Given the description of an element on the screen output the (x, y) to click on. 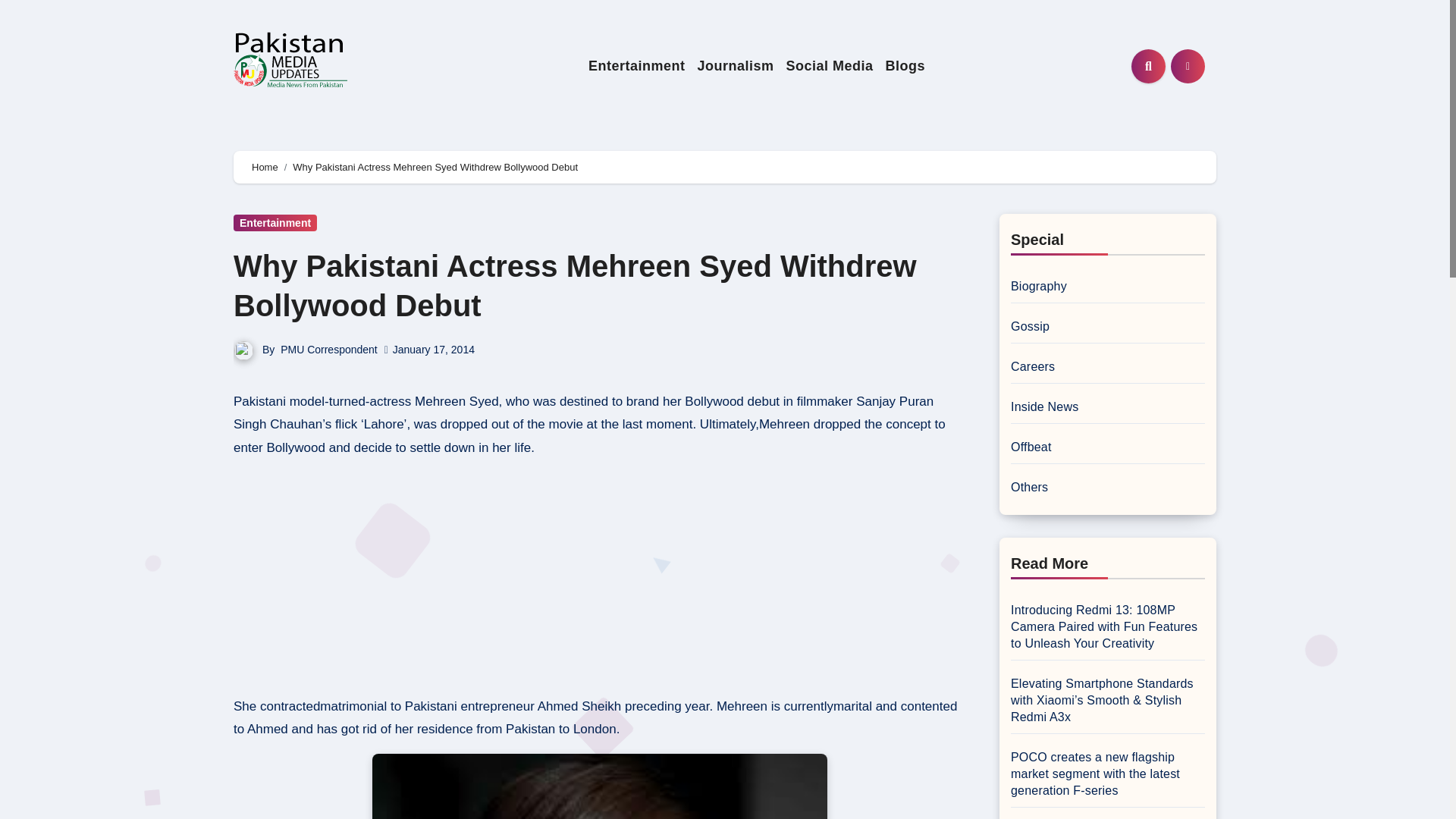
Journalism (734, 66)
PMU Correspondent (329, 349)
Social Media (828, 66)
Social Media (828, 66)
Entertainment (274, 222)
Entertainment (636, 66)
Why Pakistani Actress Mehreen Syed Withdrew Bollywood Debut (574, 285)
Blogs (905, 66)
Blogs (905, 66)
Journalism (734, 66)
Advertisement (601, 577)
Home (264, 166)
January 17, 2014 (433, 349)
Entertainment (636, 66)
